Given the description of an element on the screen output the (x, y) to click on. 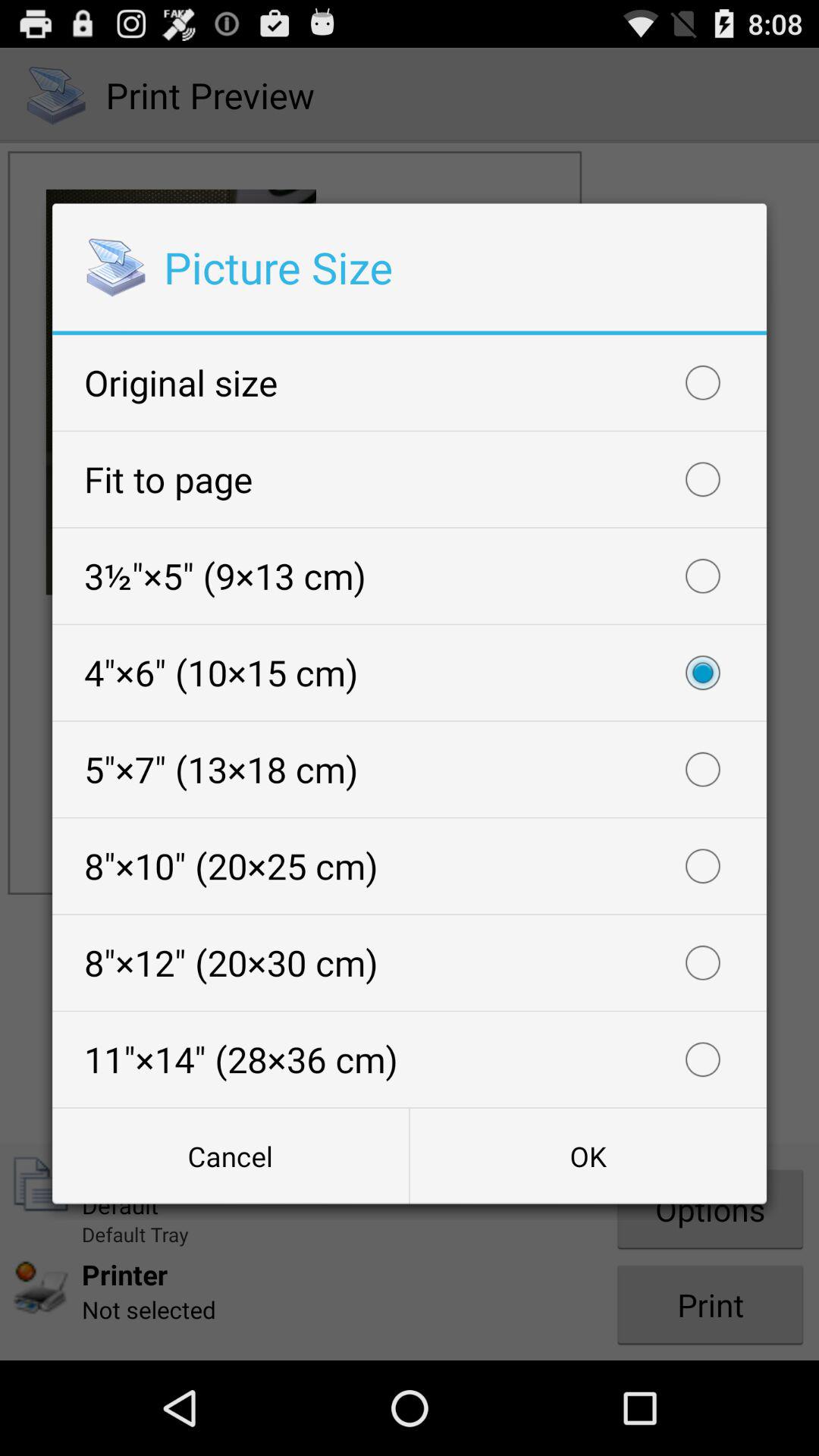
select the item next to the cancel (588, 1156)
